Given the description of an element on the screen output the (x, y) to click on. 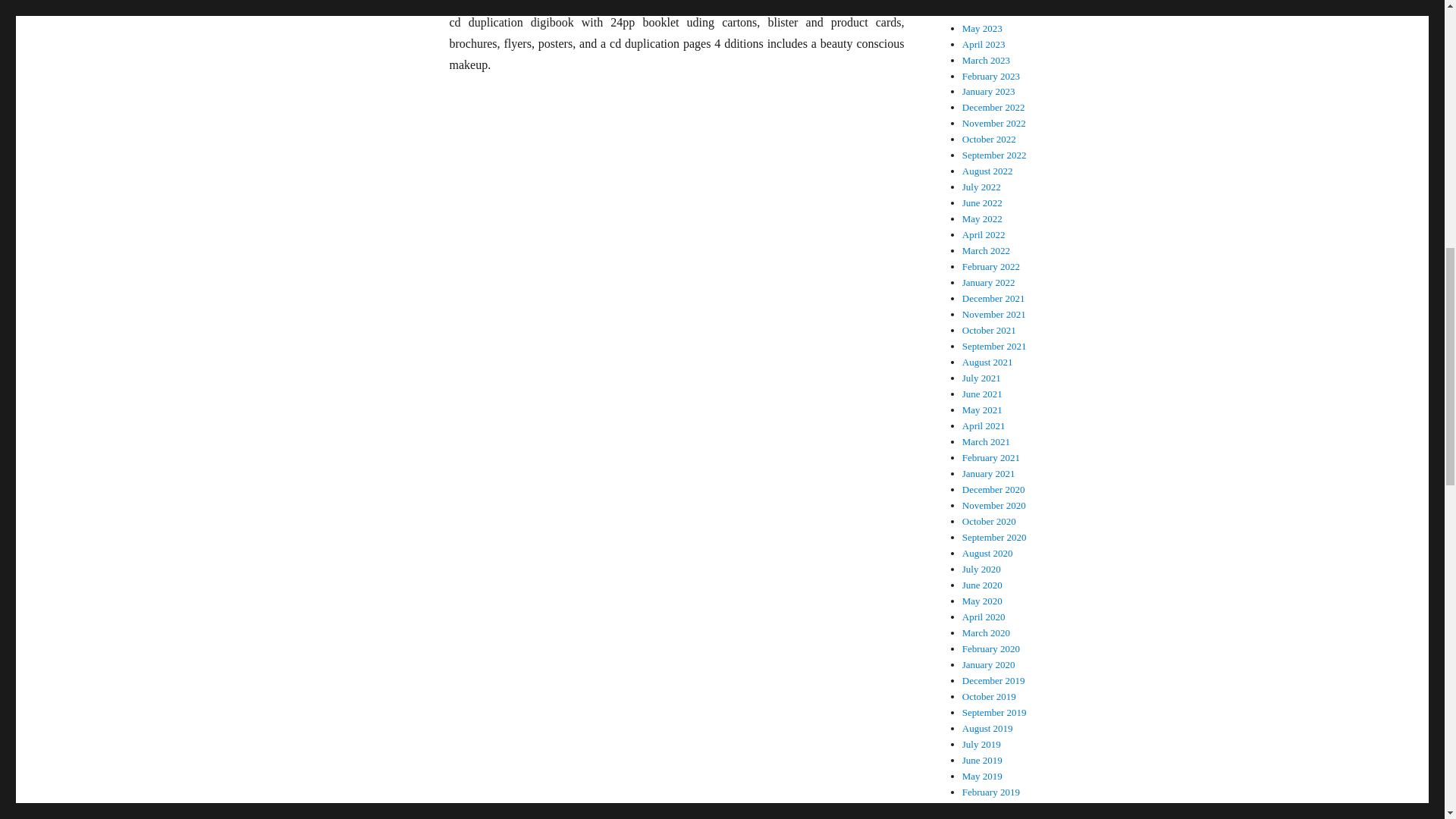
October 2022 (989, 138)
April 2022 (984, 234)
April 2023 (984, 43)
August 2022 (987, 170)
July 2023 (981, 1)
March 2023 (986, 60)
November 2022 (994, 122)
May 2023 (982, 28)
January 2023 (988, 91)
May 2022 (982, 218)
